Given the description of an element on the screen output the (x, y) to click on. 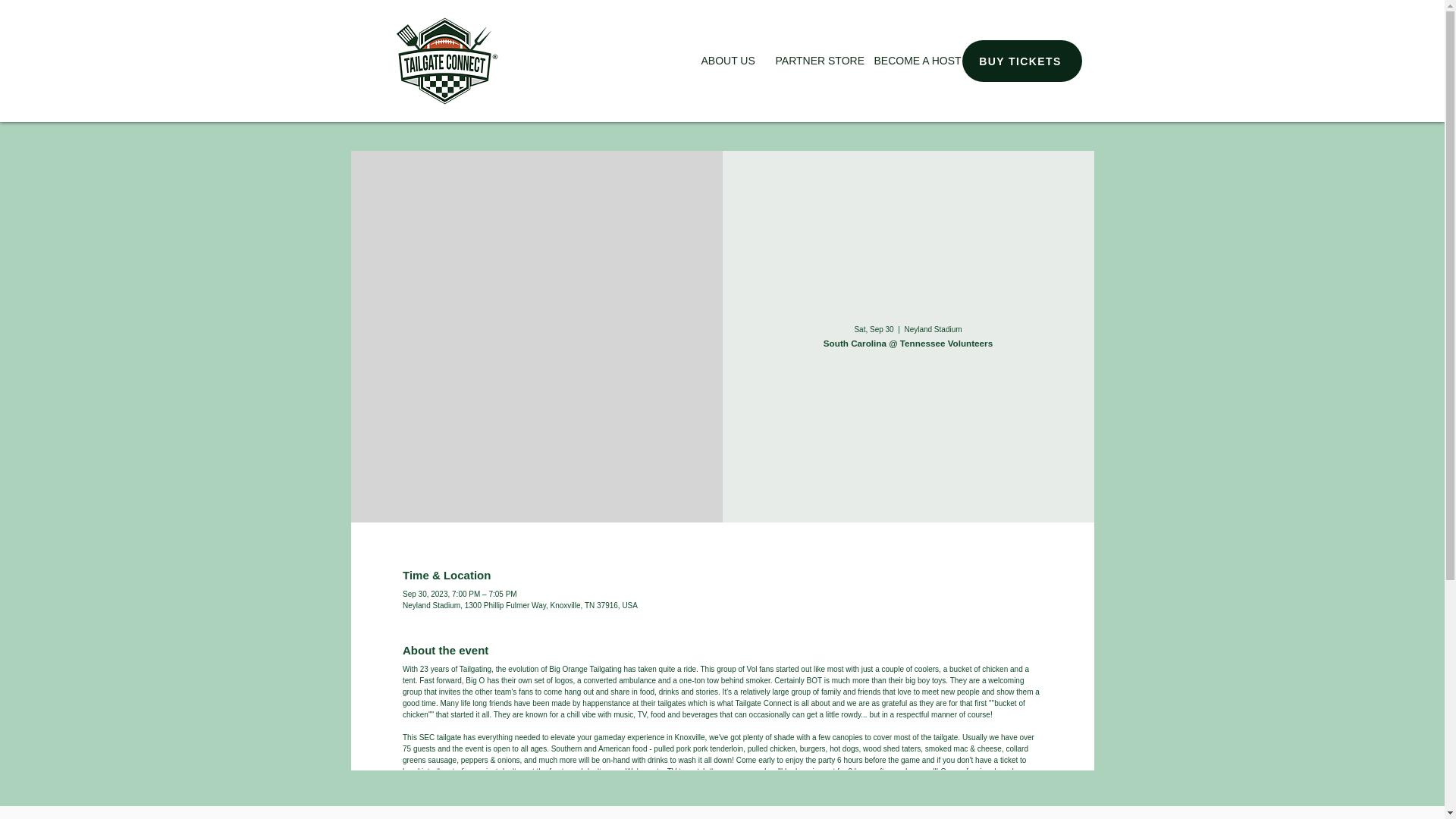
BECOME A HOST (912, 60)
PARTNER STORE (813, 60)
BUY TICKETS (1020, 60)
ABOUT US (727, 60)
